Given the description of an element on the screen output the (x, y) to click on. 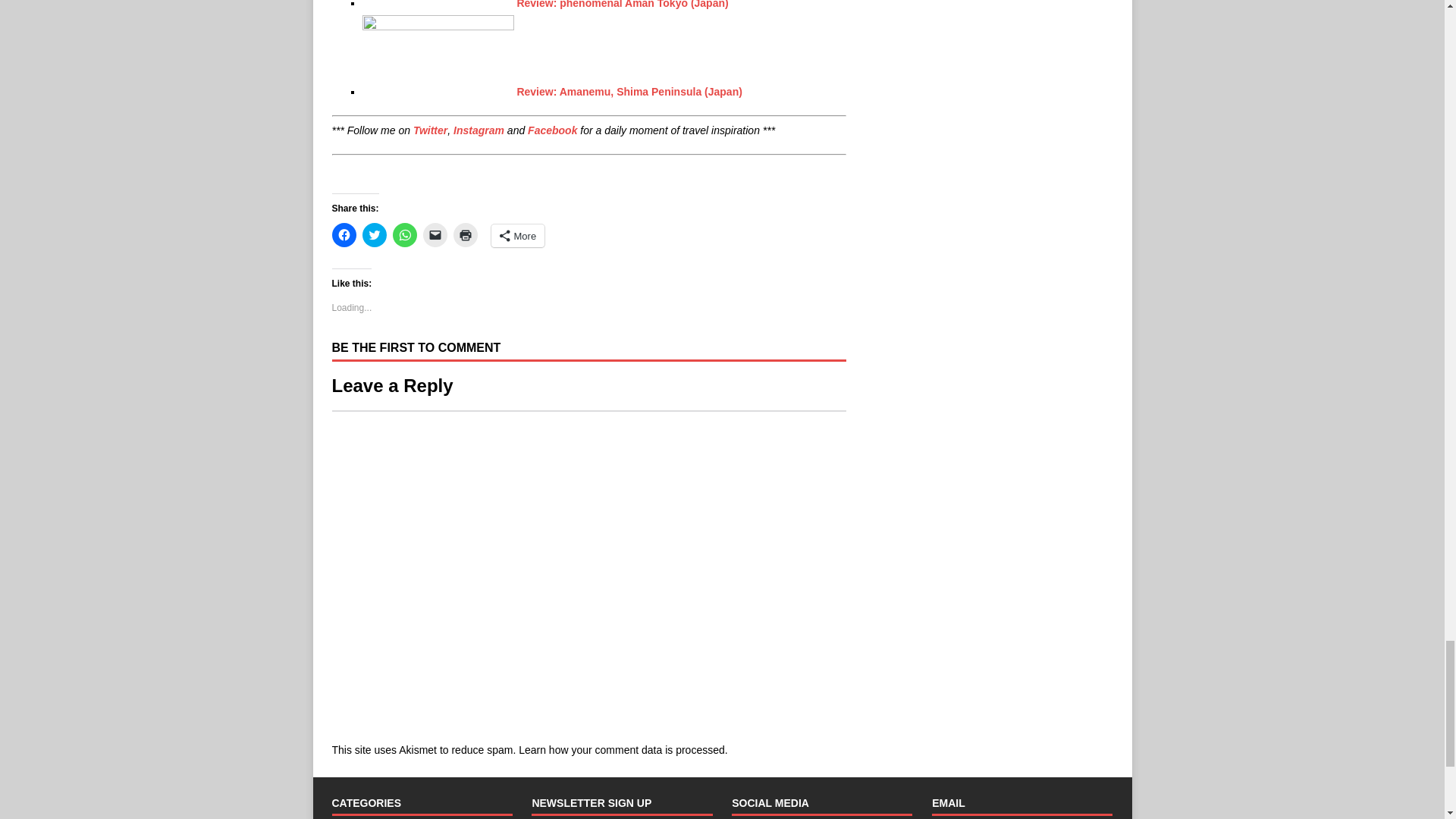
Click to share on WhatsApp (404, 234)
Click to email a link to a friend (434, 234)
Click to share on Twitter (374, 234)
Click to print (464, 234)
Click to share on Facebook (343, 234)
